Given the description of an element on the screen output the (x, y) to click on. 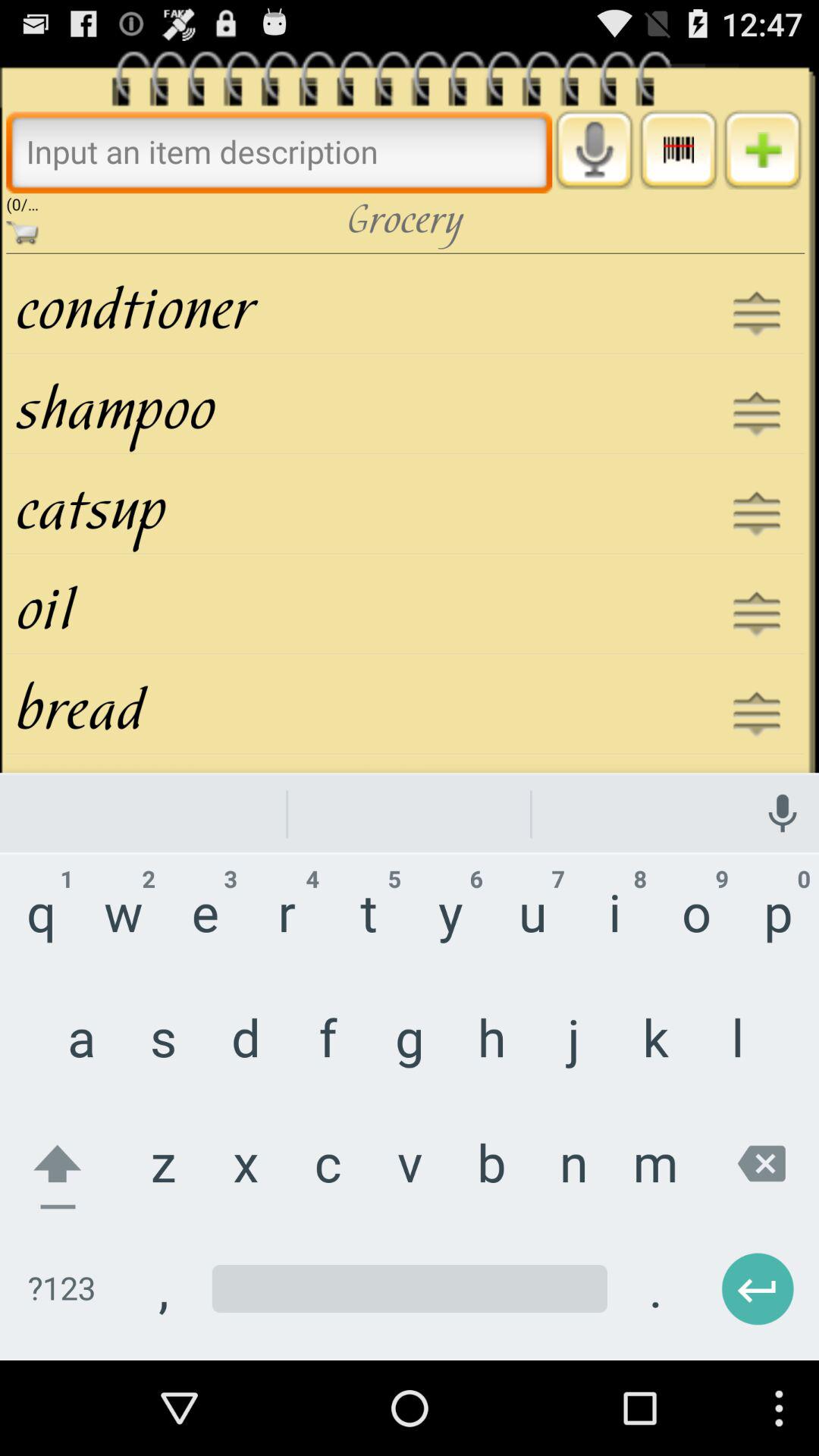
open voice recorder (594, 149)
